Given the description of an element on the screen output the (x, y) to click on. 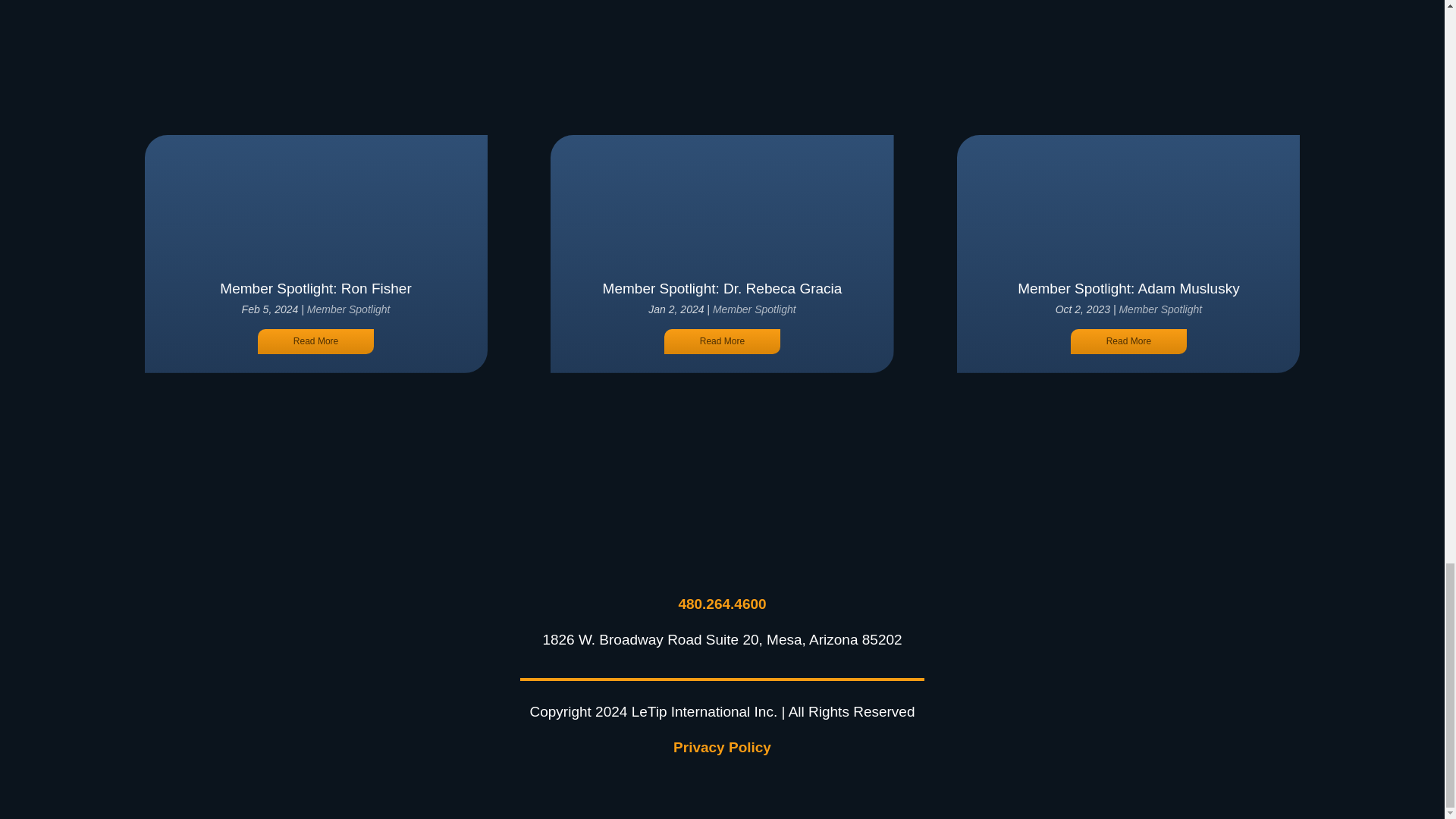
letip-logo-white (721, 542)
